Given the description of an element on the screen output the (x, y) to click on. 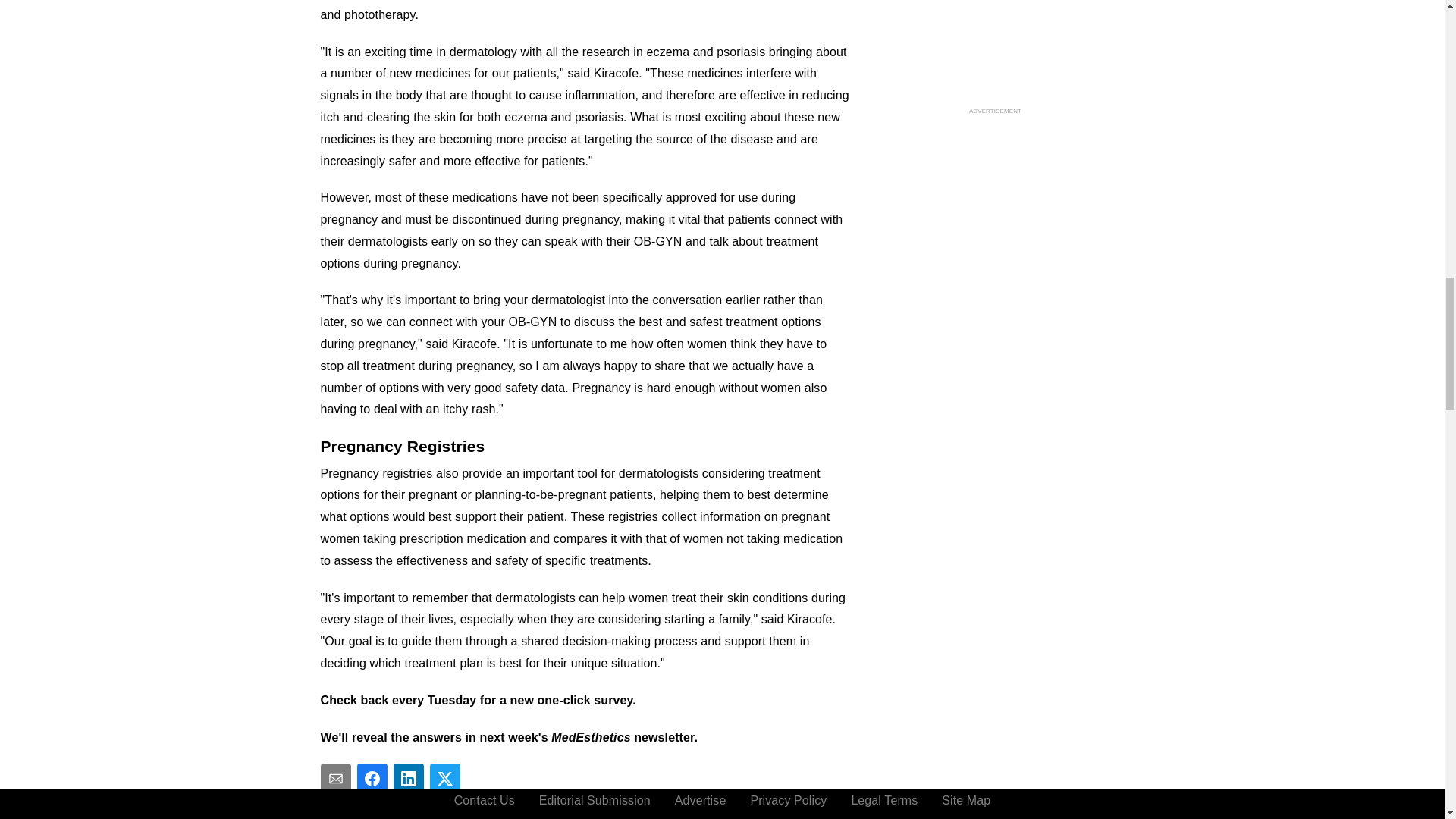
Share To linkedin (408, 778)
Share To twitter (444, 778)
Share To facebook (371, 778)
Share To email (335, 778)
